Given the description of an element on the screen output the (x, y) to click on. 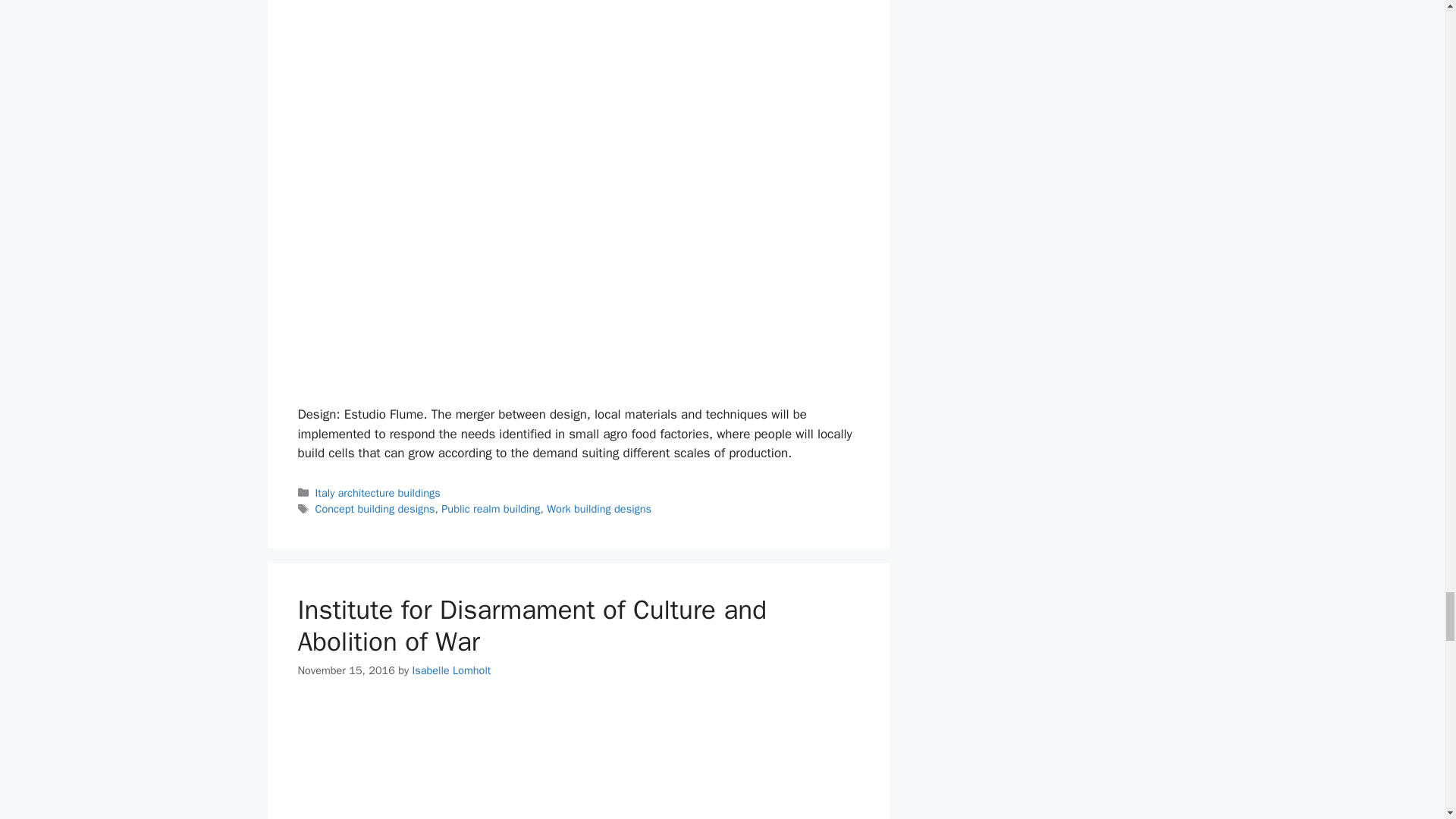
View all posts by Isabelle Lomholt (451, 670)
